Given the description of an element on the screen output the (x, y) to click on. 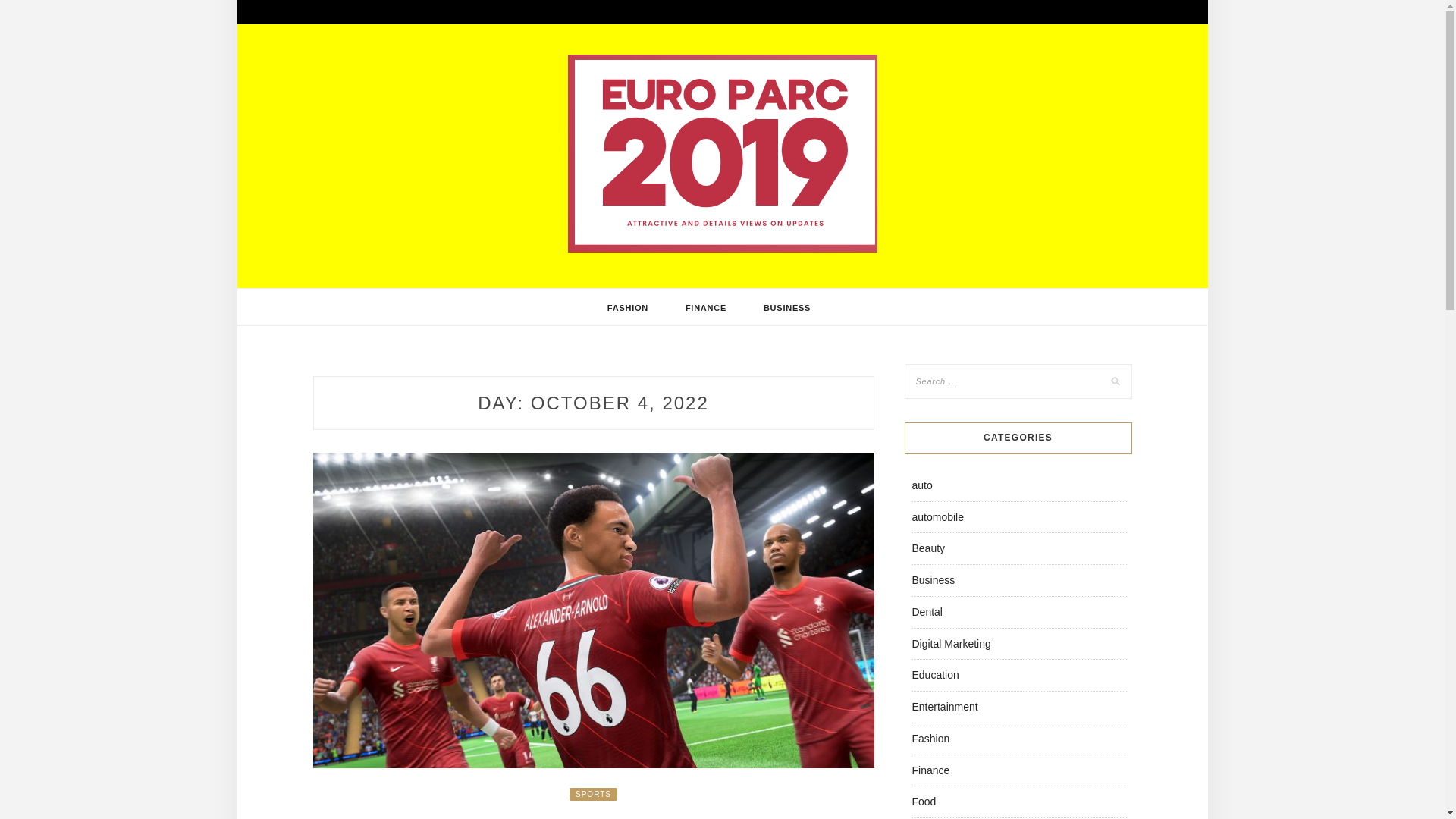
Digital Marketing (950, 643)
Business (933, 580)
Finance (930, 770)
automobile (937, 517)
Beauty (927, 548)
Dental (926, 612)
FASHION (628, 307)
FINANCE (705, 307)
Education (934, 674)
Food (923, 801)
